Given the description of an element on the screen output the (x, y) to click on. 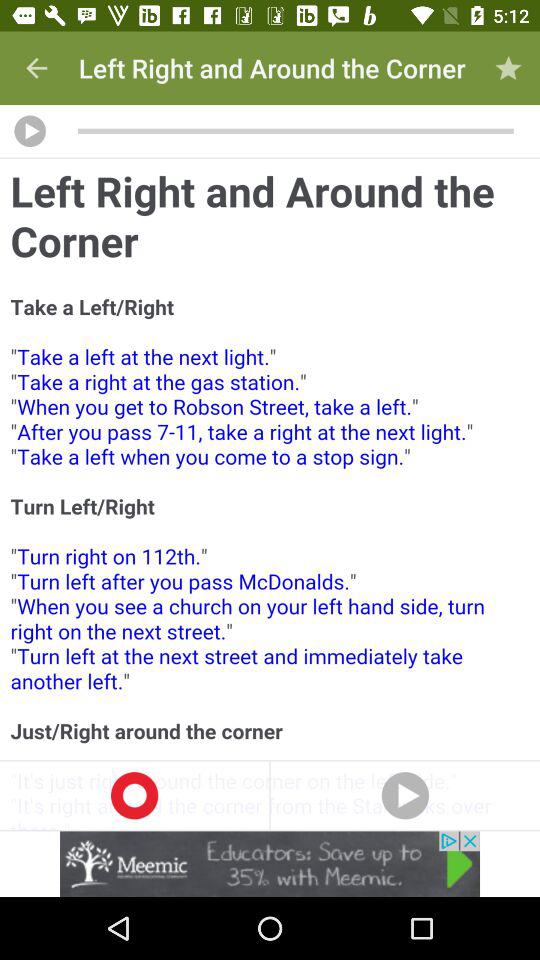
start recording (134, 795)
